Given the description of an element on the screen output the (x, y) to click on. 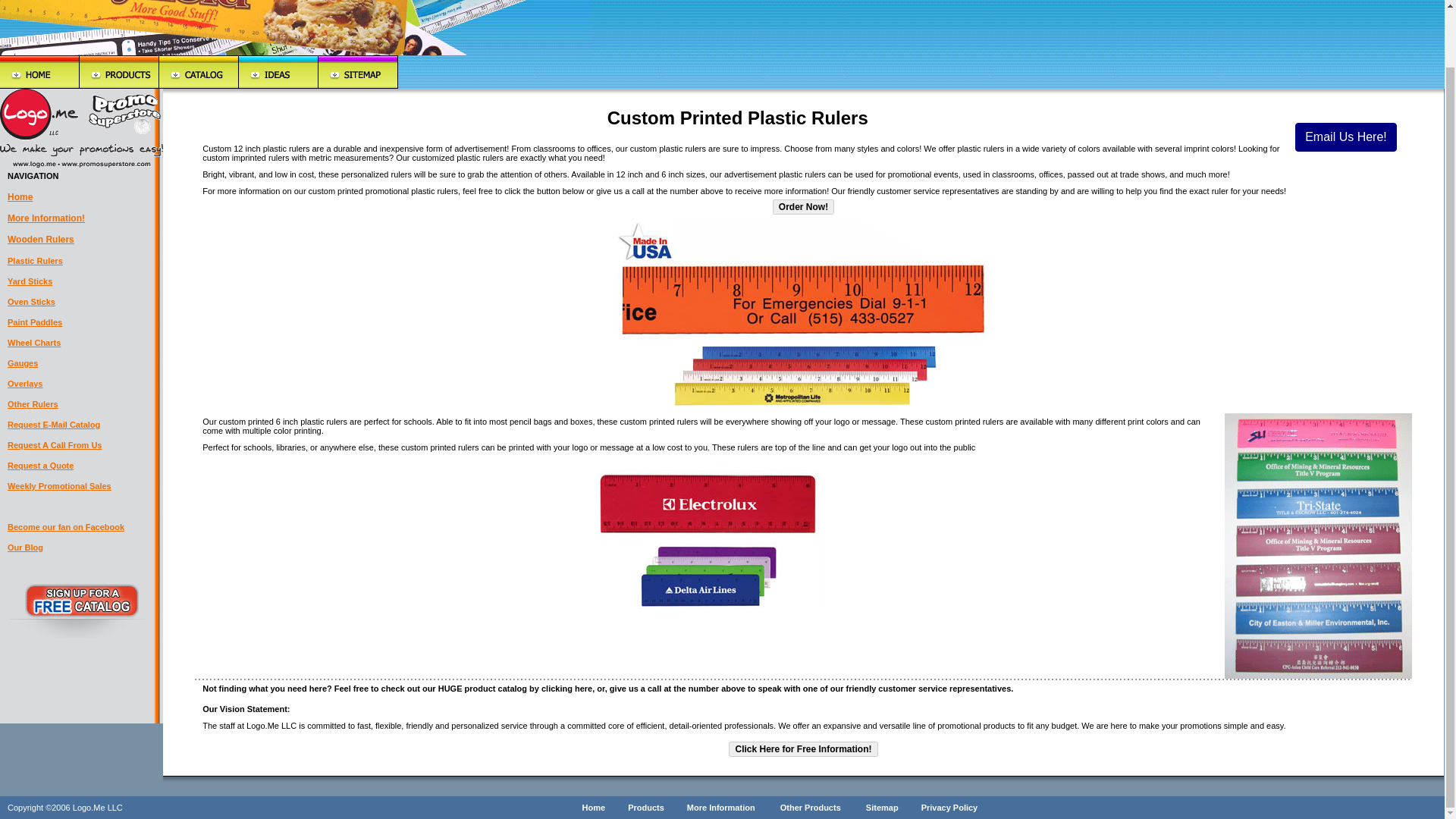
Request a Quote (40, 465)
Other Products (811, 807)
Order Now! (803, 206)
Our Blog (25, 547)
Gauges (22, 362)
Order Now! (803, 206)
Wheel Charts (34, 342)
Paint Paddles (34, 321)
Request E-Mail Catalog (53, 424)
Click Here for Free Information! (803, 749)
Other Rulers (32, 403)
More Information! (45, 217)
Request A Call From Us (54, 444)
Products (645, 807)
Email Us Here! (1345, 136)
